Given the description of an element on the screen output the (x, y) to click on. 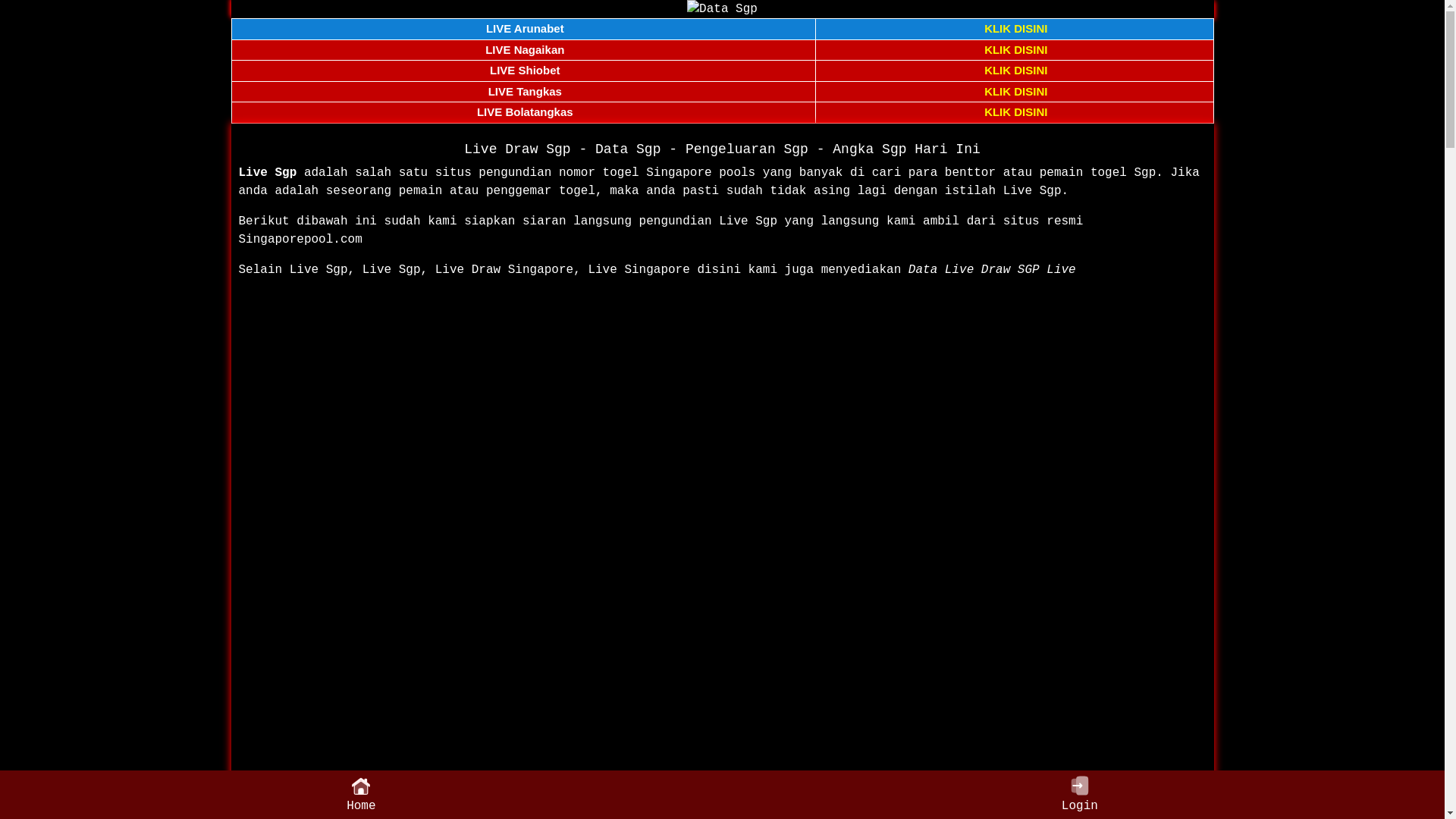
Live Sgp Element type: text (267, 172)
KLIK DISINI Element type: text (1015, 69)
Login Element type: text (1079, 794)
Home Element type: text (360, 794)
KLIK DISINI Element type: text (1015, 49)
KLIK DISINI Element type: text (1015, 111)
KLIK DISINI Element type: text (1015, 90)
KLIK DISINI Element type: text (1015, 27)
